Given the description of an element on the screen output the (x, y) to click on. 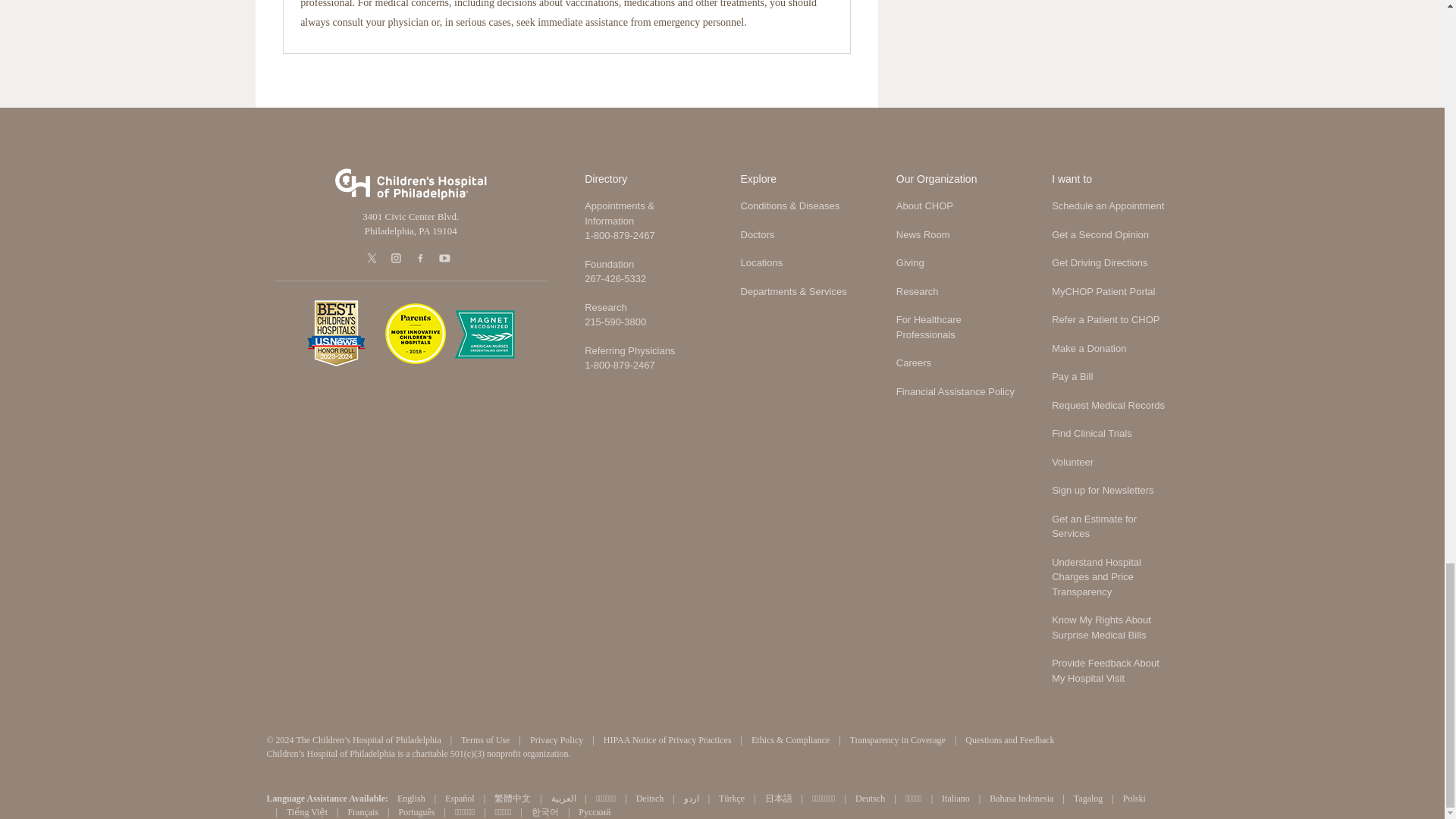
X (373, 257)
Facebook (421, 257)
Inst (398, 257)
